Given the description of an element on the screen output the (x, y) to click on. 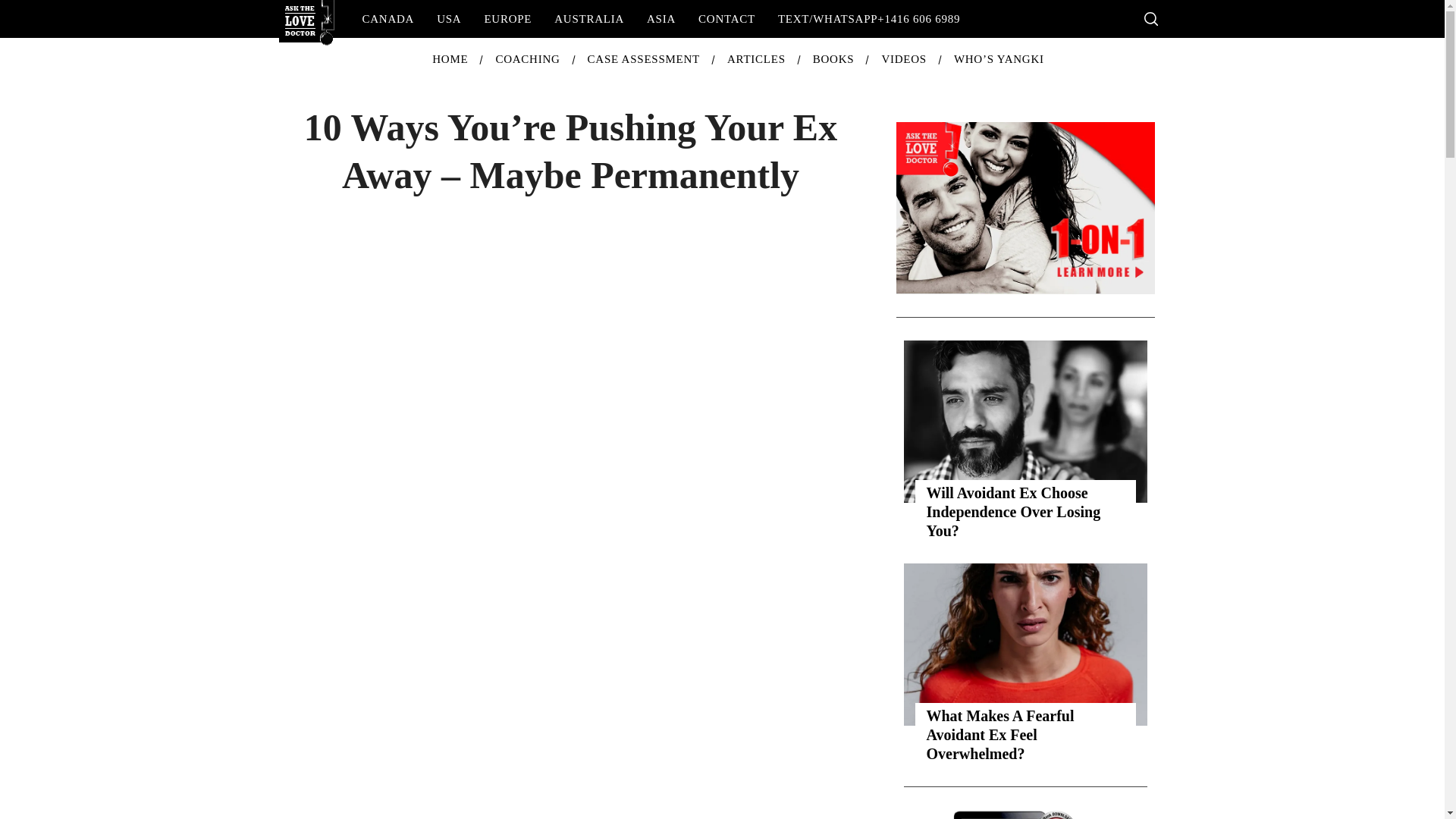
ARTICLES (756, 59)
ASIA (660, 18)
AUSTRALIA (588, 18)
CANADA (387, 18)
CONTACT (727, 18)
COACHING (527, 59)
EUROPE (507, 18)
USA (448, 18)
CASE ASSESSMENT (643, 59)
